Given the description of an element on the screen output the (x, y) to click on. 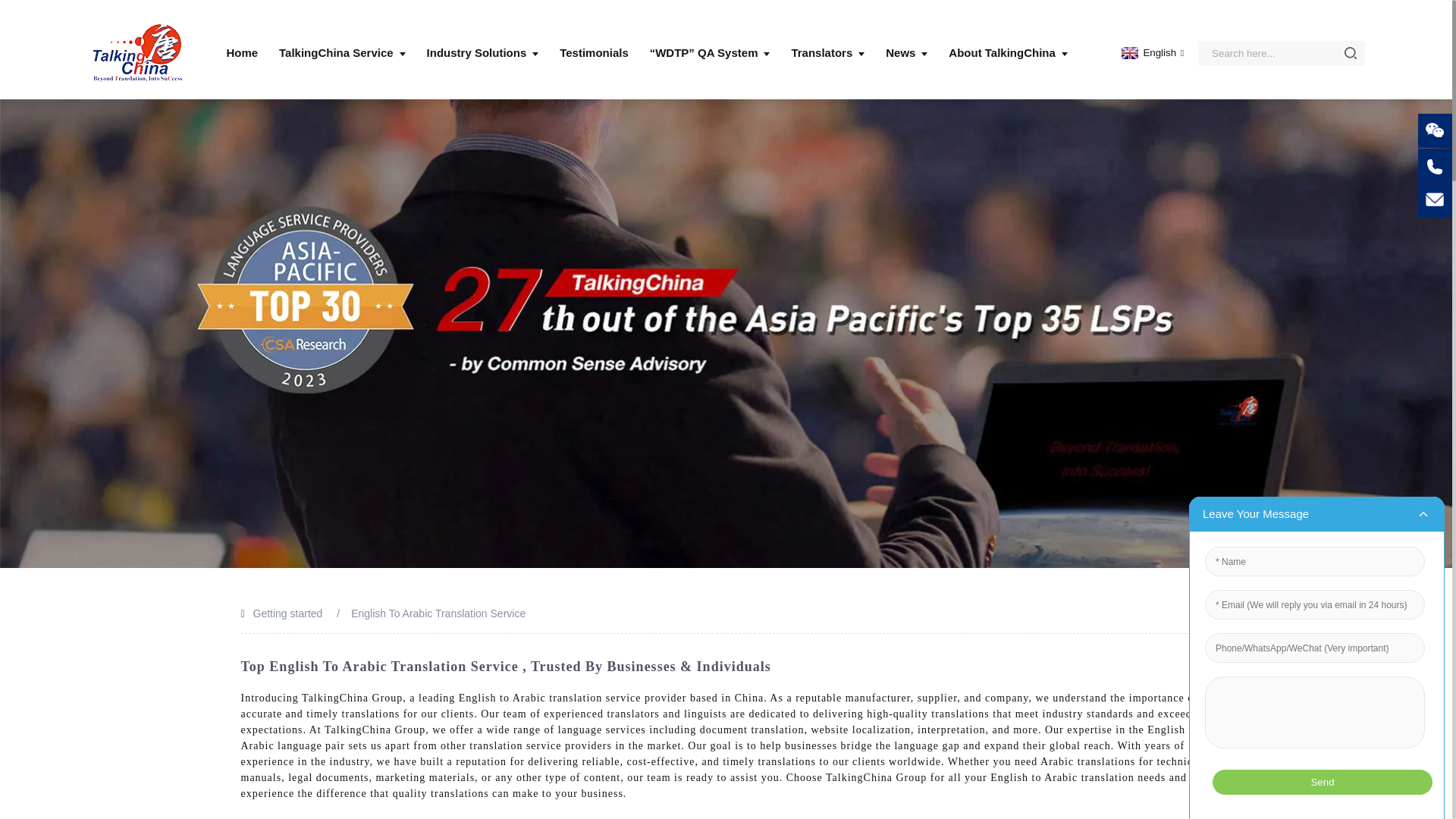
Testimonials (593, 52)
Translators (827, 52)
Industry Solutions (482, 52)
About TalkingChina (1008, 52)
TalkingChina Service (342, 52)
